Given the description of an element on the screen output the (x, y) to click on. 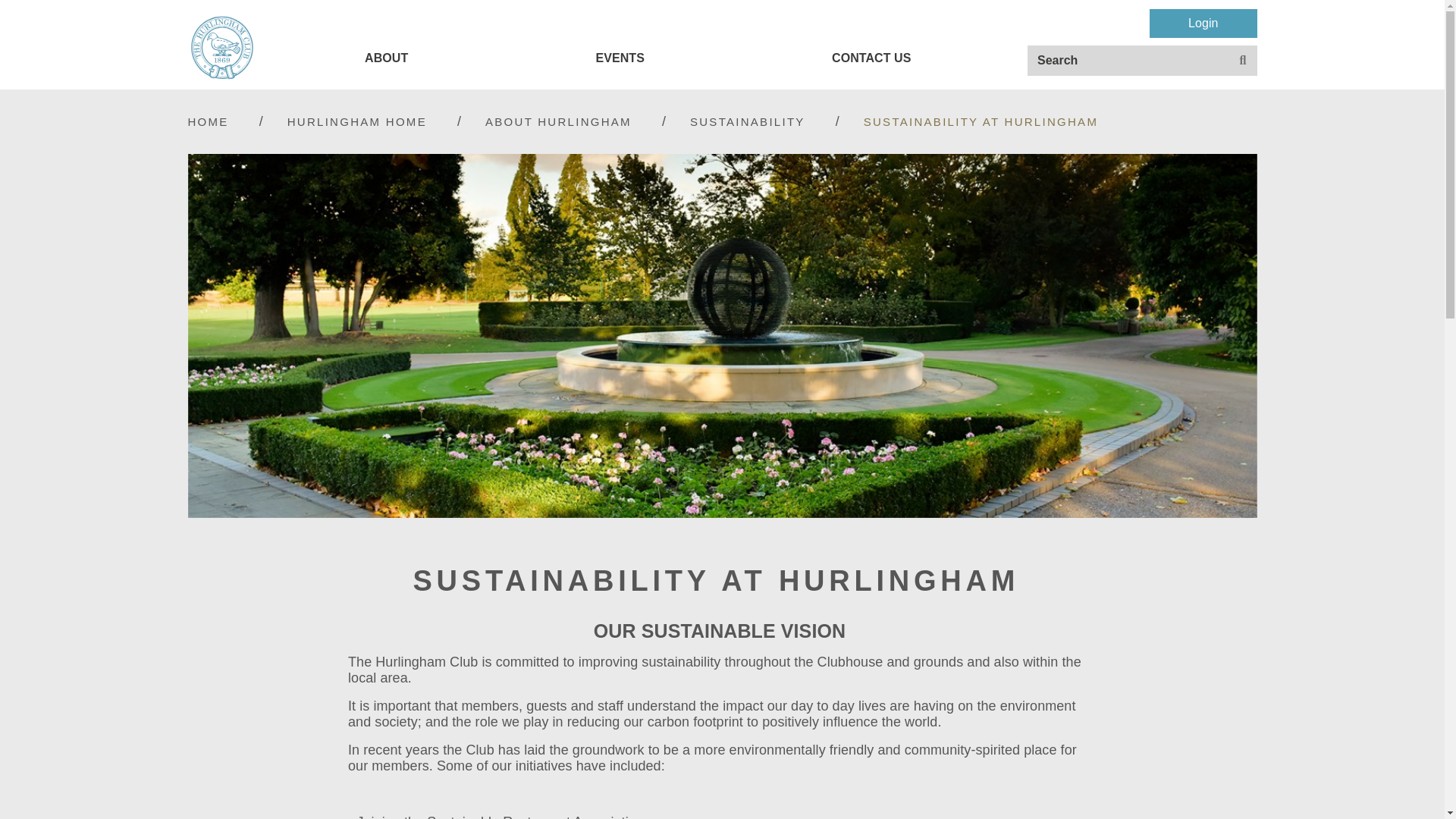
CONTACT US (871, 58)
EVENTS (620, 58)
ABOUT (386, 58)
EVENTS (620, 58)
Login (1203, 23)
CONTACT US (871, 58)
ABOUT (386, 58)
